Given the description of an element on the screen output the (x, y) to click on. 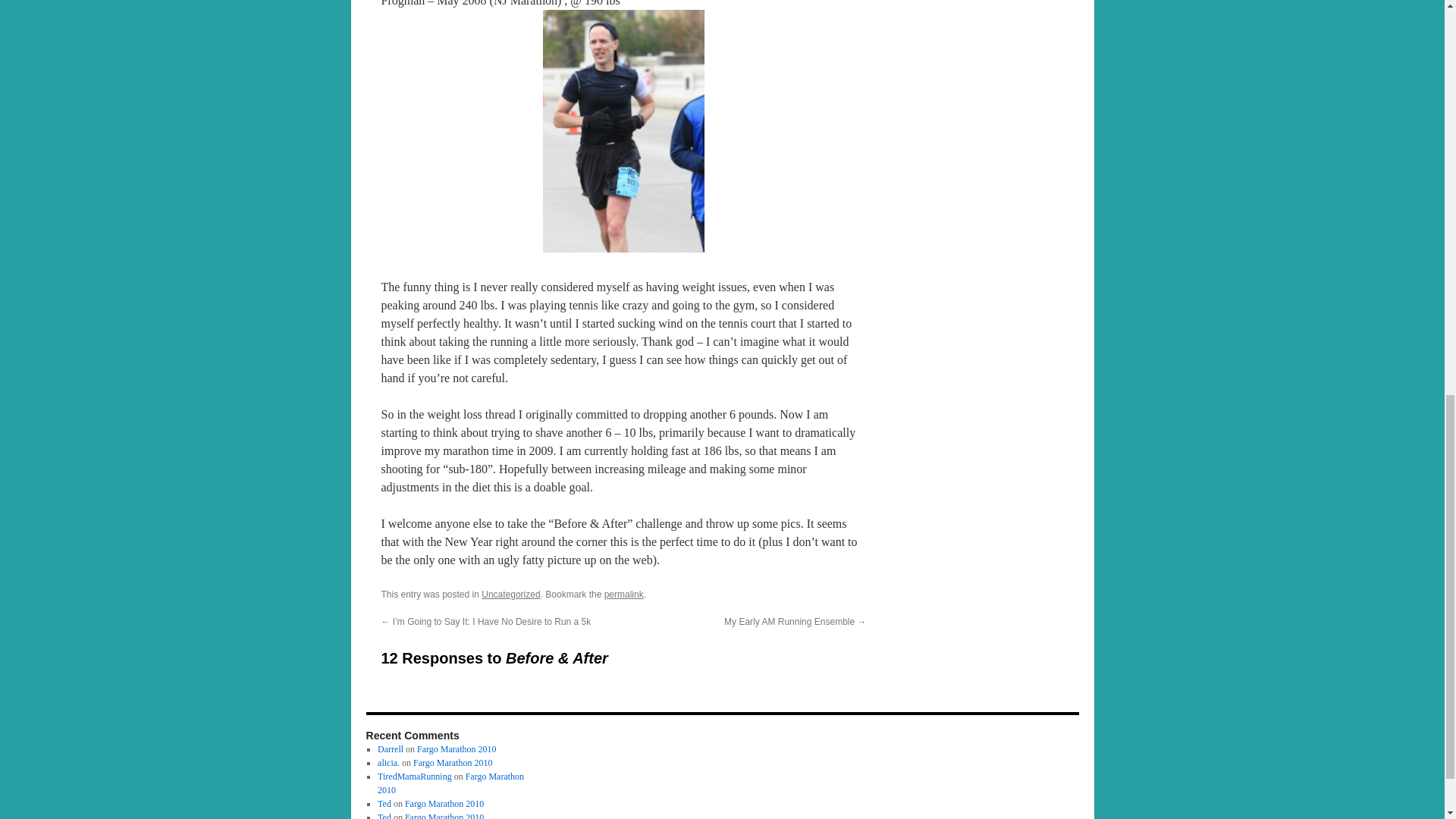
Fargo Marathon 2010 (443, 803)
alicia. (387, 762)
permalink (623, 593)
Darrell (390, 748)
Uncategorized (510, 593)
Fargo Marathon 2010 (456, 748)
TiredMamaRunning (414, 776)
Ted (384, 815)
Fargo Marathon 2010 (452, 762)
Fargo Marathon 2010 (450, 783)
Fargo Marathon 2010 (443, 815)
Ted (384, 803)
